Given the description of an element on the screen output the (x, y) to click on. 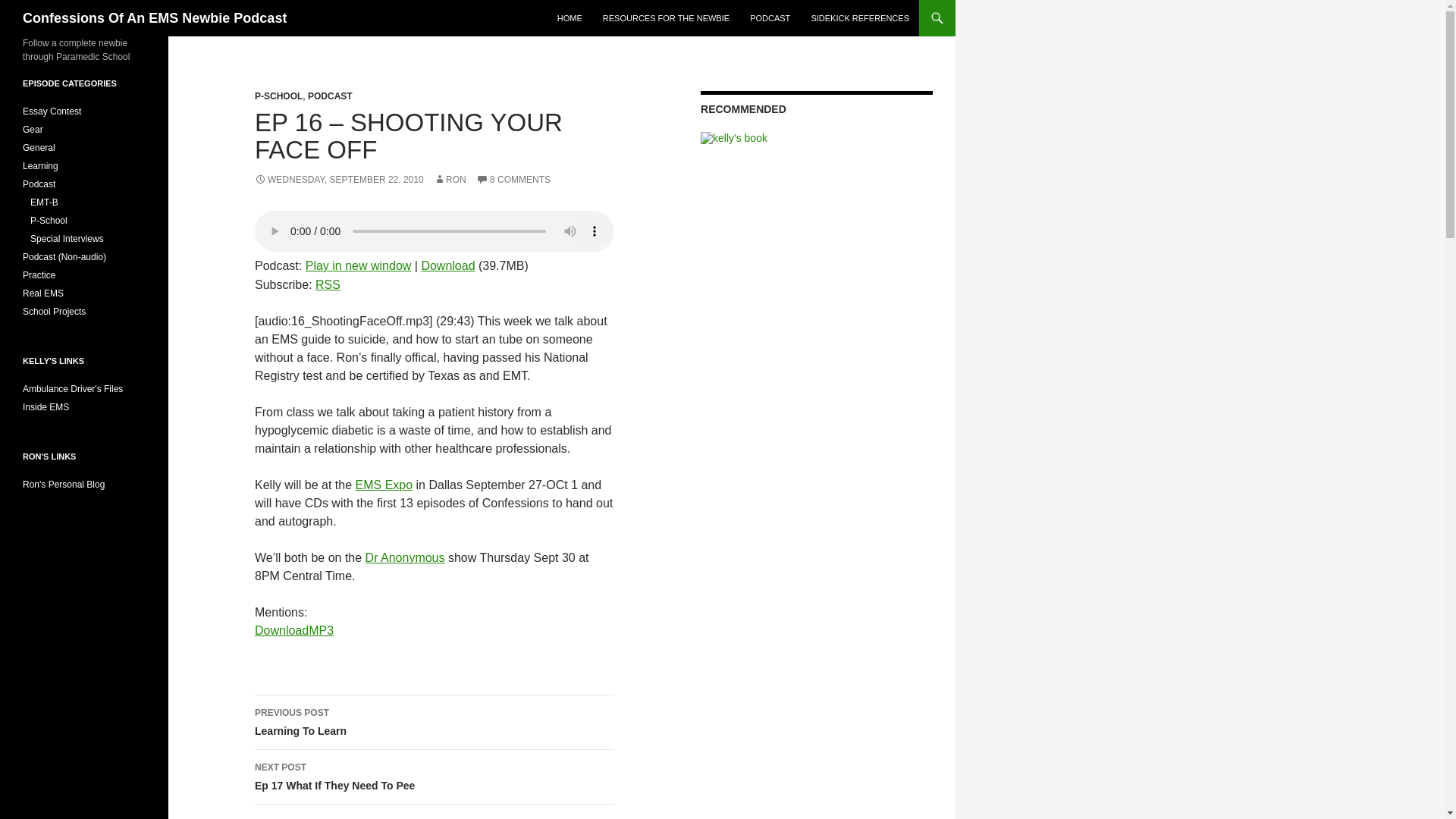
Download (447, 265)
PODCAST (329, 95)
SIDEKICK REFERENCES (860, 18)
Play in new window (358, 265)
Confessions Of An EMS Newbie Podcast (154, 18)
EMS Expo (384, 484)
HOME (569, 18)
RESOURCES FOR THE NEWBIE (666, 18)
PODCAST (770, 18)
Download (447, 265)
General (39, 147)
DownloadMP3 (293, 630)
Dr Anonymous (434, 777)
Podcast (405, 557)
